Given the description of an element on the screen output the (x, y) to click on. 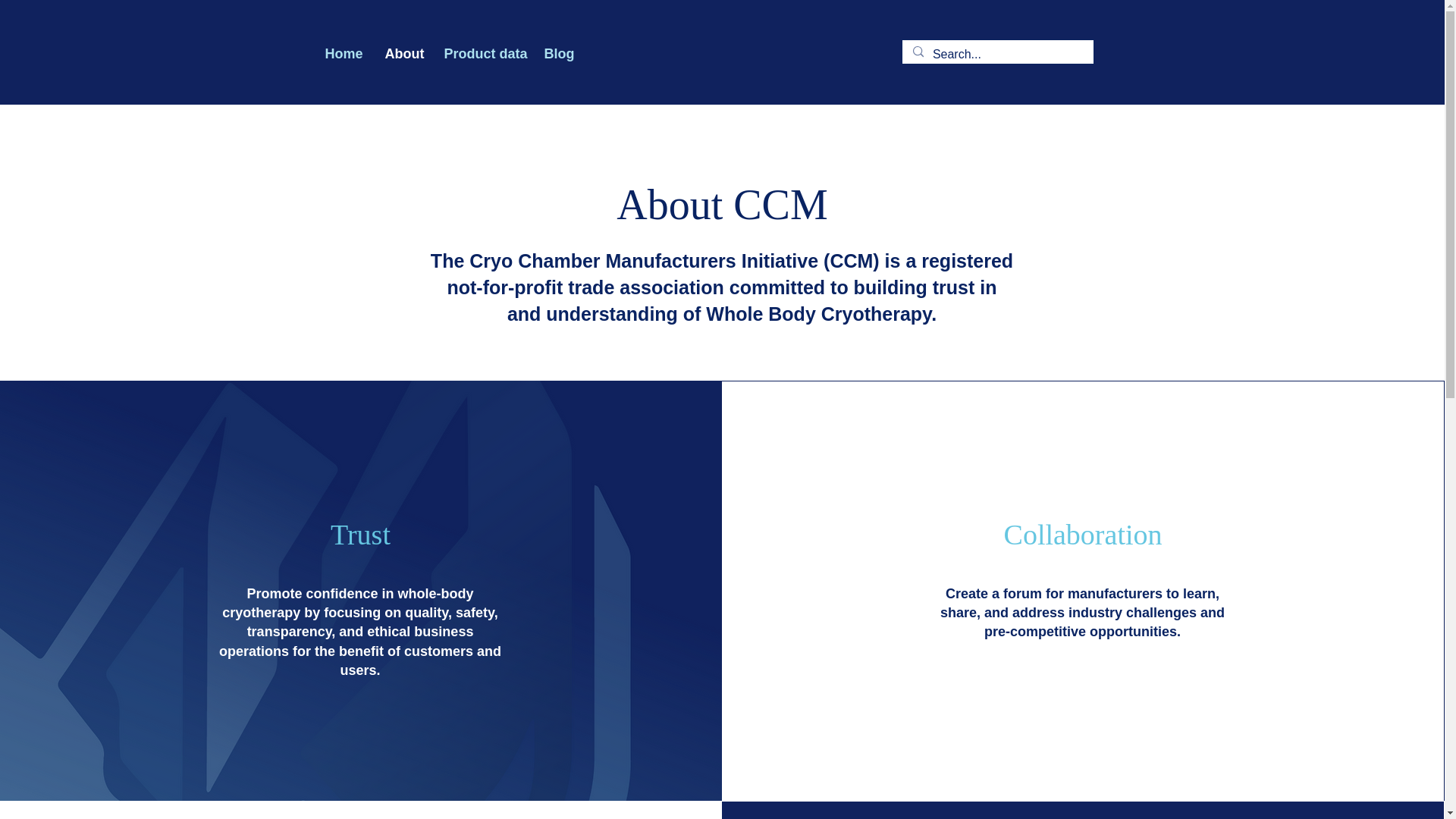
About (402, 53)
Cryo Chamber Manufacturers Initiative (643, 260)
Blog (556, 53)
Product data (482, 53)
Home (344, 53)
